Given the description of an element on the screen output the (x, y) to click on. 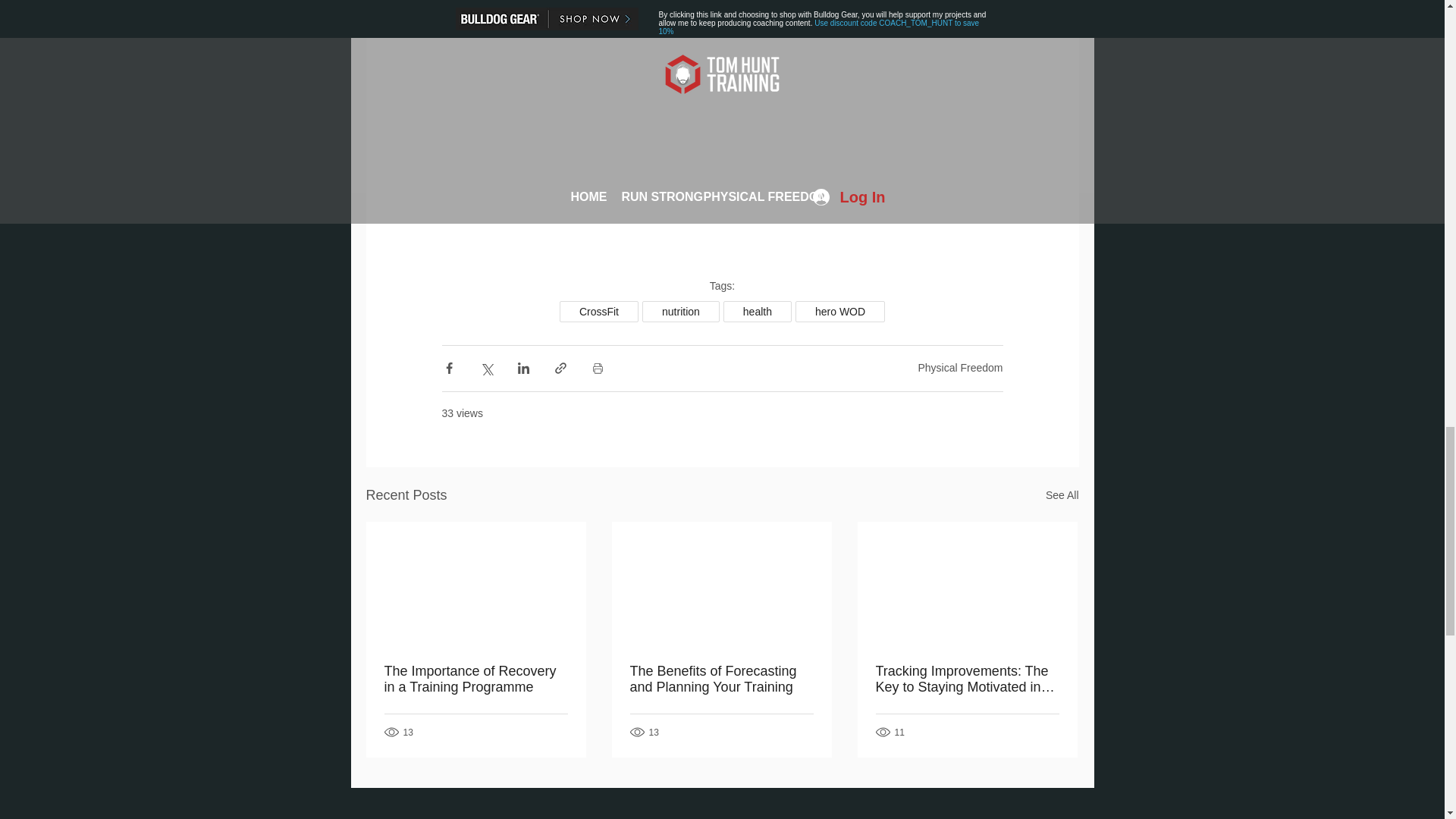
Physical Freedom (960, 367)
nutrition (680, 311)
See All (1061, 495)
hero WOD (839, 311)
The Benefits of Forecasting and Planning Your Training (720, 679)
CrossFit (599, 311)
The Importance of Recovery in a Training Programme (475, 679)
health (757, 311)
